Given the description of an element on the screen output the (x, y) to click on. 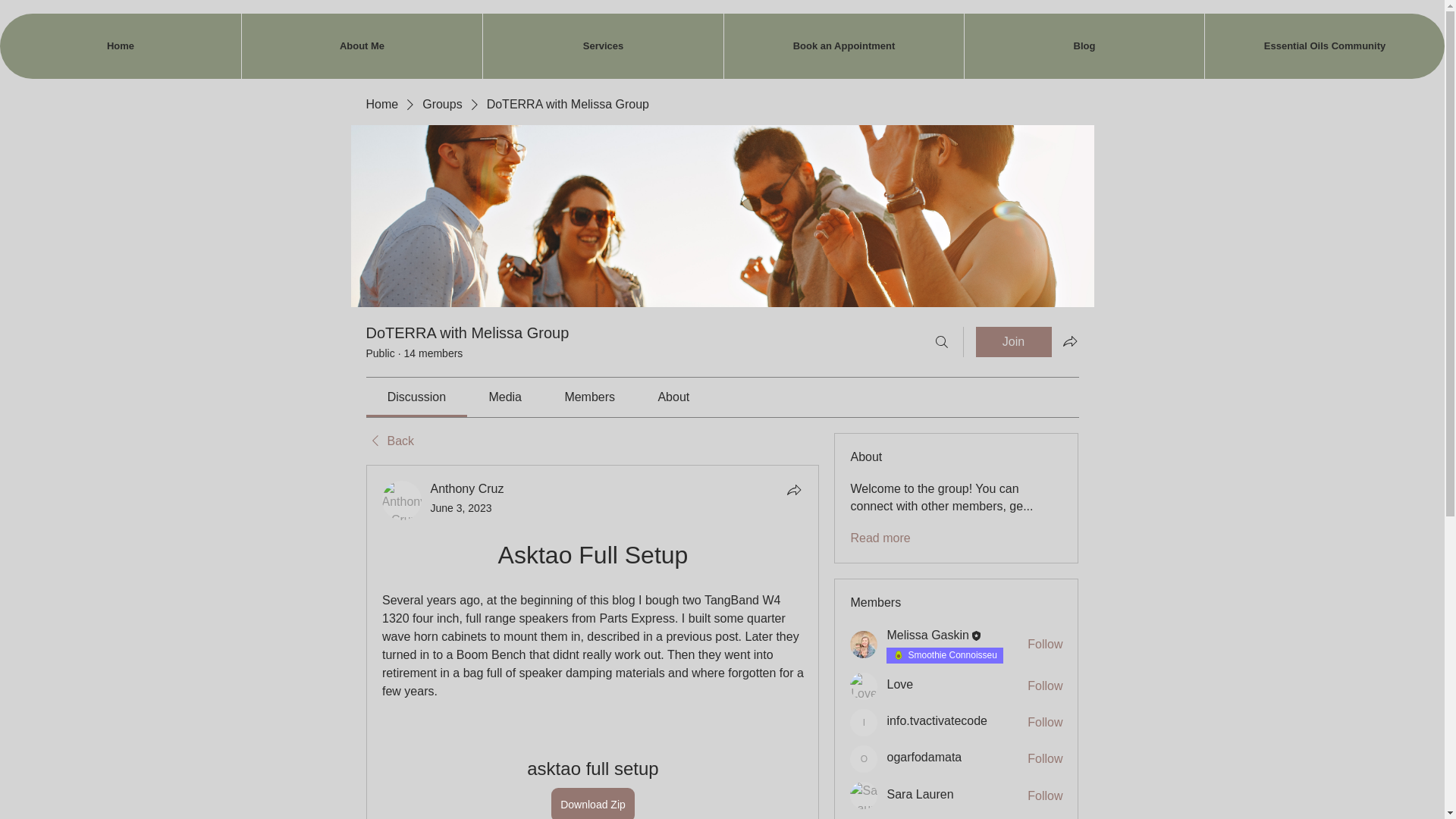
info.tvactivatecode (863, 722)
Services (602, 45)
Follow (1044, 795)
Download Zip (592, 803)
info.tvactivatecode (936, 720)
Melissa Gaskin (863, 644)
Join (1013, 341)
Follow (1044, 759)
Anthony Cruz (401, 500)
Groups (441, 104)
